Given the description of an element on the screen output the (x, y) to click on. 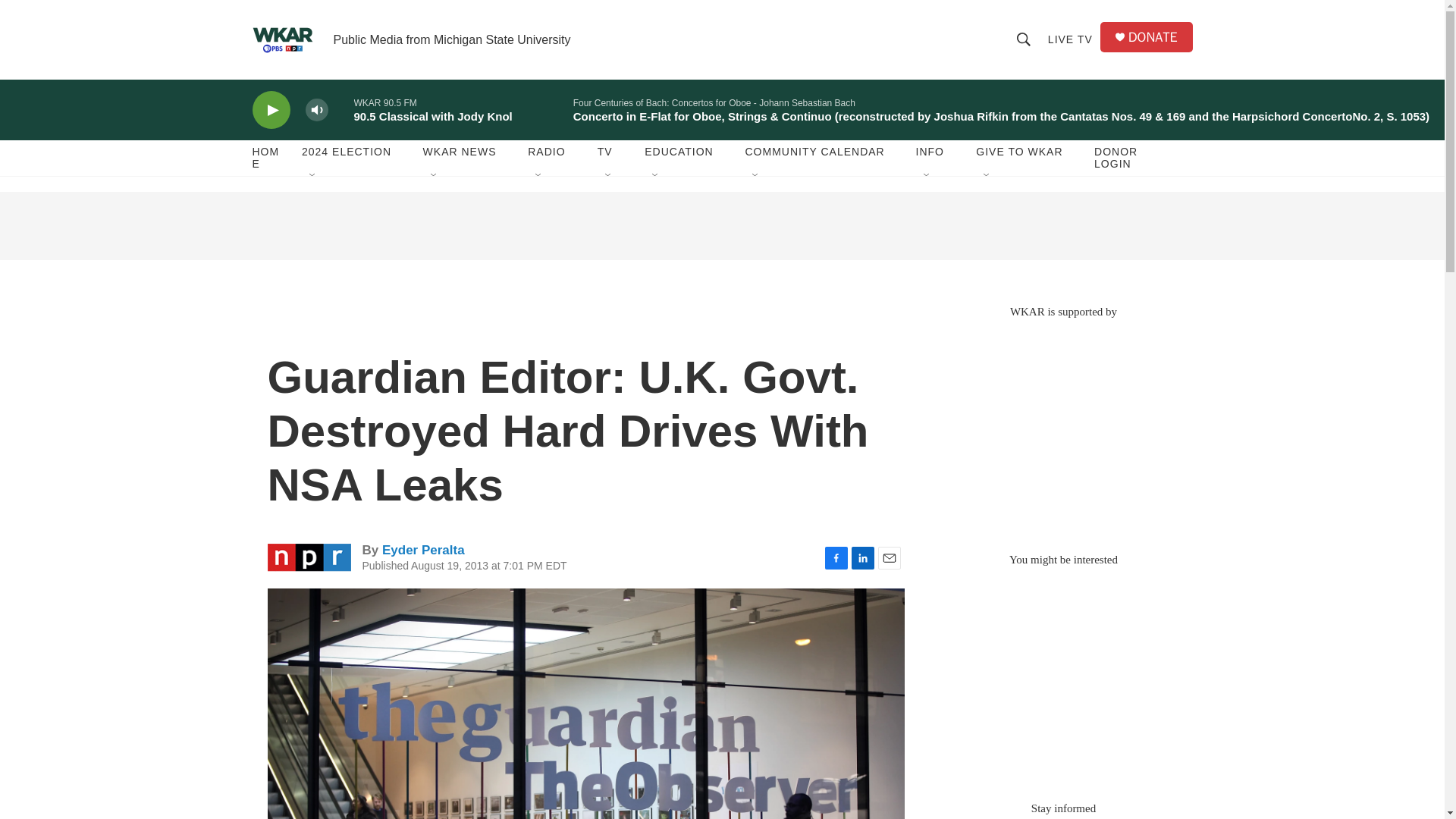
3rd party ad content (1062, 677)
3rd party ad content (1062, 428)
3rd party ad content (721, 225)
